Given the description of an element on the screen output the (x, y) to click on. 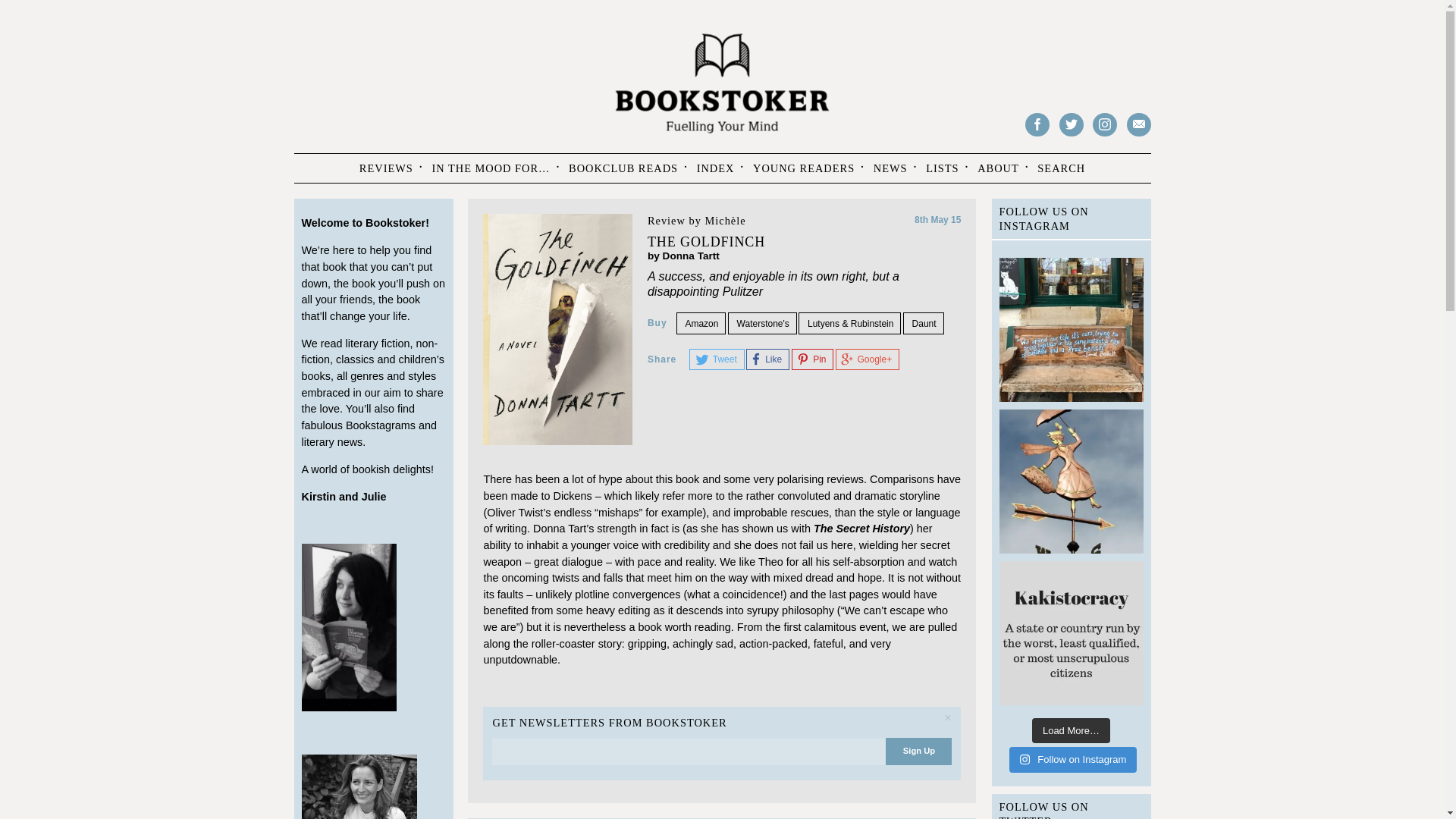
BOOKCLUB READS (622, 167)
Sign Up (918, 750)
Follow us Instagram (1104, 124)
INDEX (715, 167)
REVIEWS (386, 167)
YOUNG READERS (803, 167)
ABOUT (997, 167)
LISTS (942, 167)
SEARCH (1061, 167)
NEWS (890, 167)
